Given the description of an element on the screen output the (x, y) to click on. 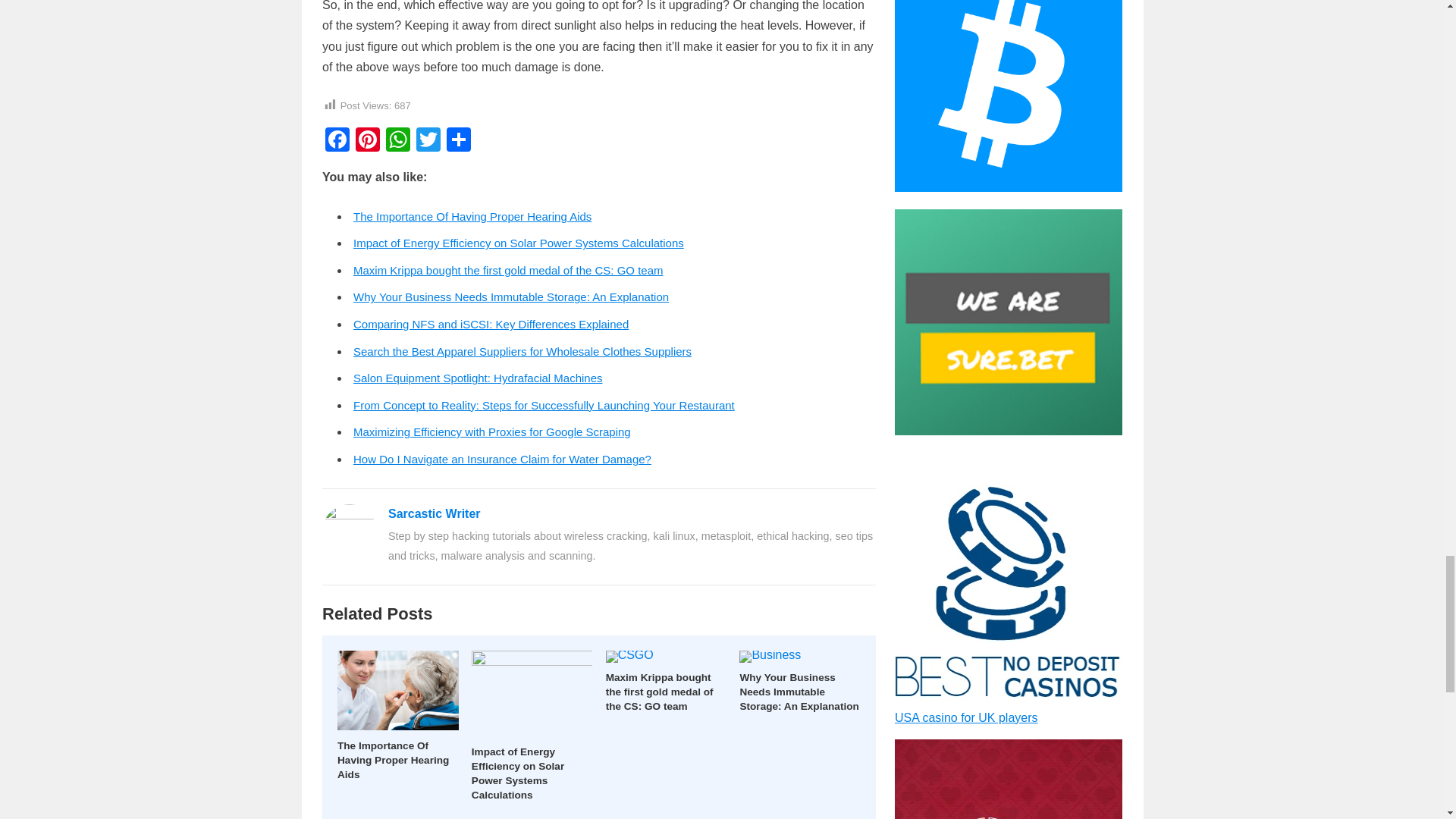
Facebook (336, 141)
Twitter (428, 141)
WhatsApp (397, 141)
Pinterest (367, 141)
